Given the description of an element on the screen output the (x, y) to click on. 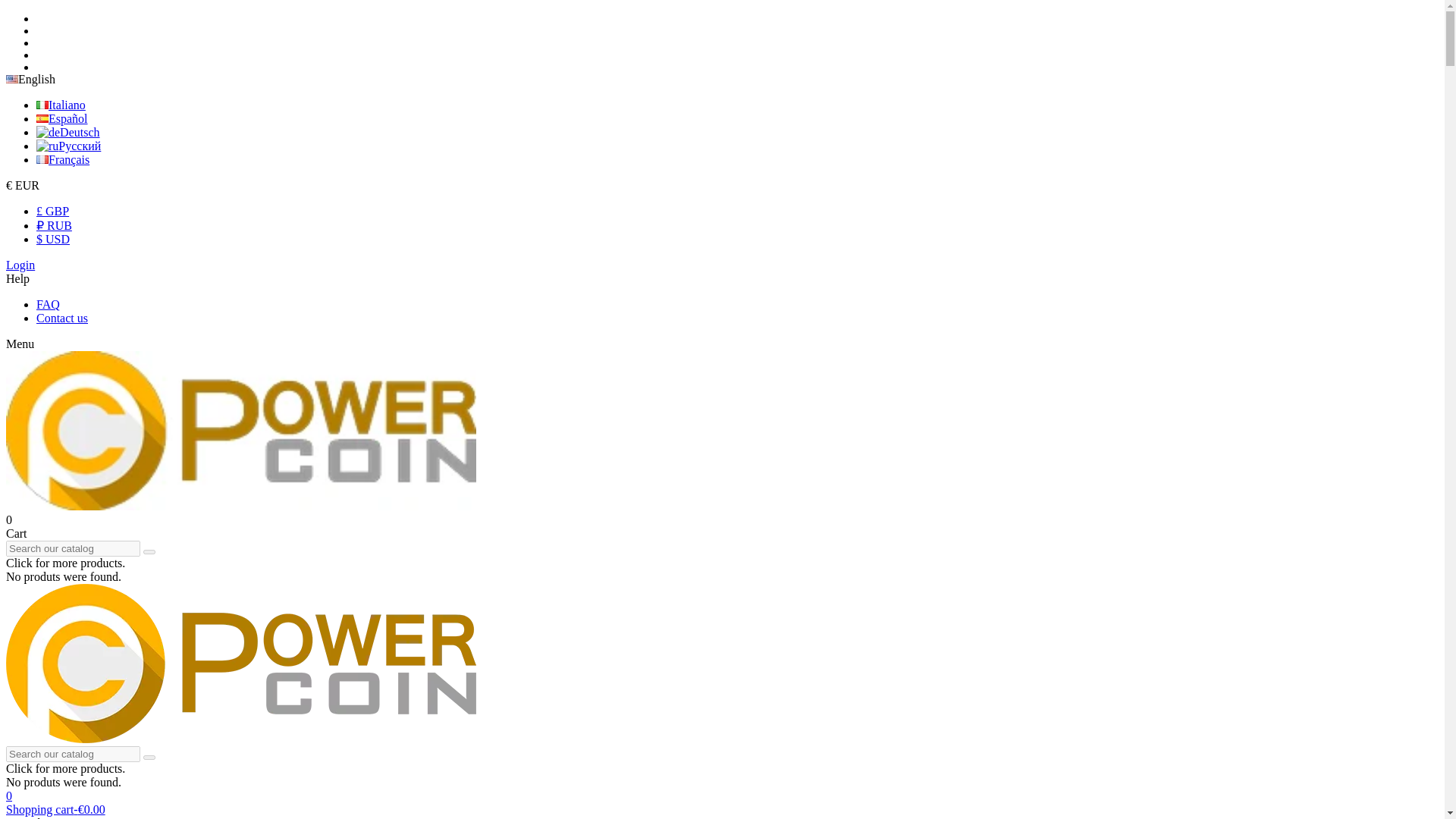
Login (19, 264)
More products. (65, 562)
FAQ Frequently Asked Questions (47, 304)
Deutsch (68, 132)
Power Coin (240, 505)
Contact us (61, 318)
Dollaro statunitense (52, 238)
Click for more products. (65, 768)
Deutsch (68, 132)
Menu (19, 343)
